Given the description of an element on the screen output the (x, y) to click on. 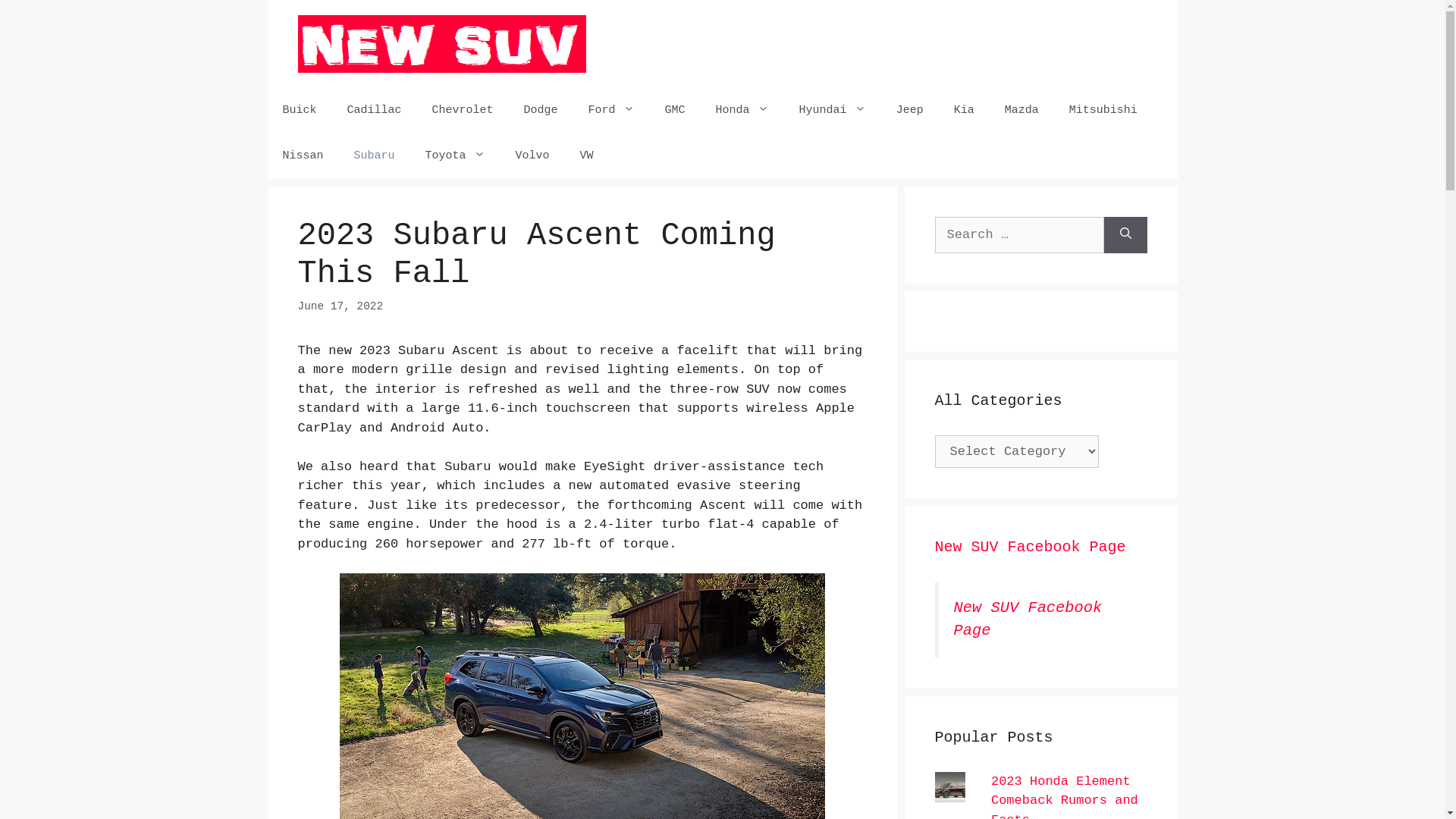
Ford Element type: text (611, 110)
Hyundai Element type: text (832, 110)
Honda Element type: text (742, 110)
Cadillac Element type: text (374, 110)
Chevrolet Element type: text (462, 110)
Buick Element type: text (298, 110)
Nissan Element type: text (302, 155)
Subaru Element type: text (374, 155)
Kia Element type: text (963, 110)
Mitsubishi Element type: text (1103, 110)
Mazda Element type: text (1021, 110)
Dodge Element type: text (540, 110)
Jeep Element type: text (909, 110)
VW Element type: text (586, 155)
GMC Element type: text (674, 110)
Volvo Element type: text (532, 155)
New SUV Facebook Page Element type: text (1029, 546)
New SUV Facebook Page Element type: text (1027, 619)
Search for: Element type: hover (1018, 234)
Toyota Element type: text (455, 155)
